Given the description of an element on the screen output the (x, y) to click on. 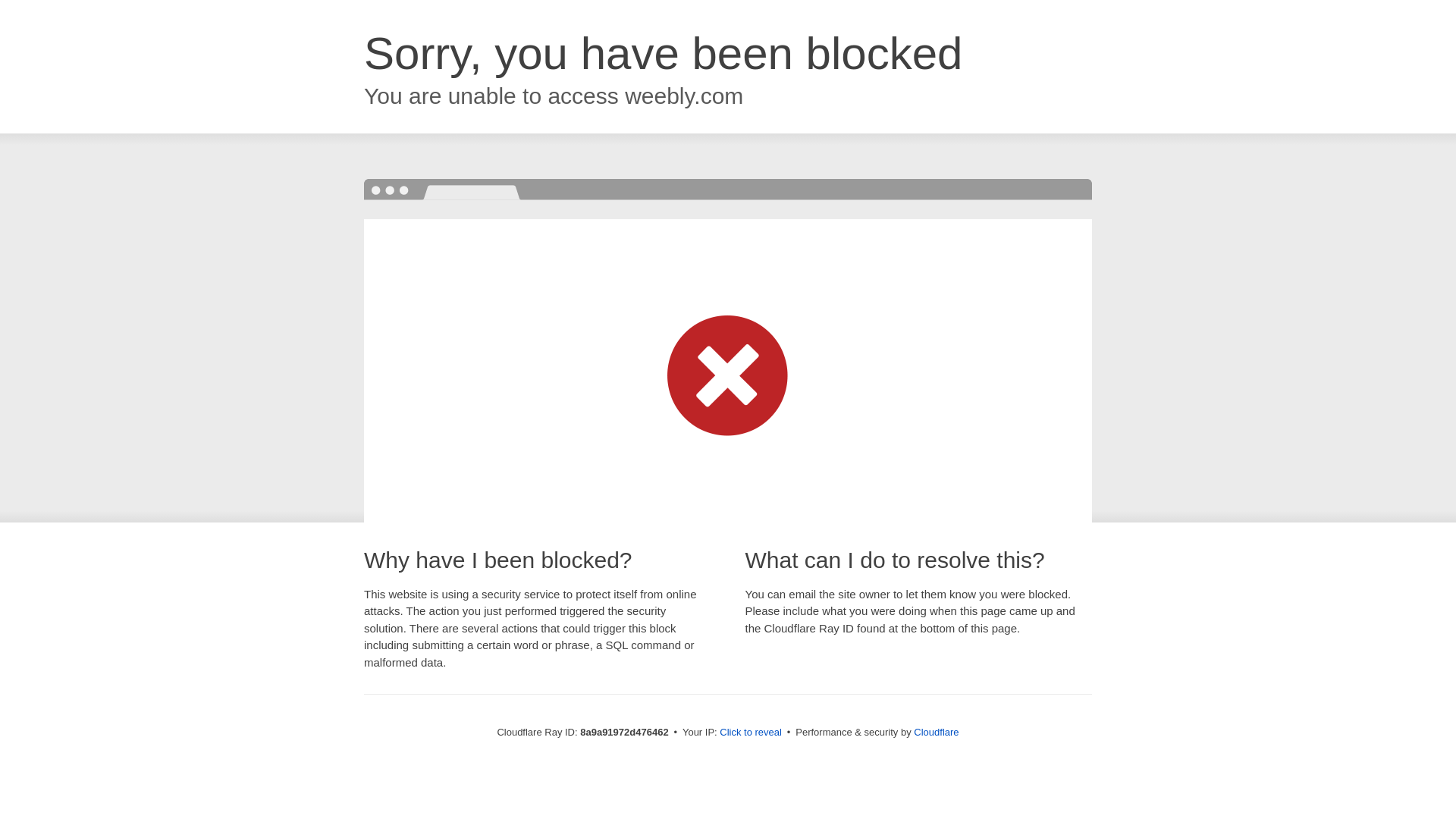
Click to reveal (750, 732)
Cloudflare (936, 731)
